Given the description of an element on the screen output the (x, y) to click on. 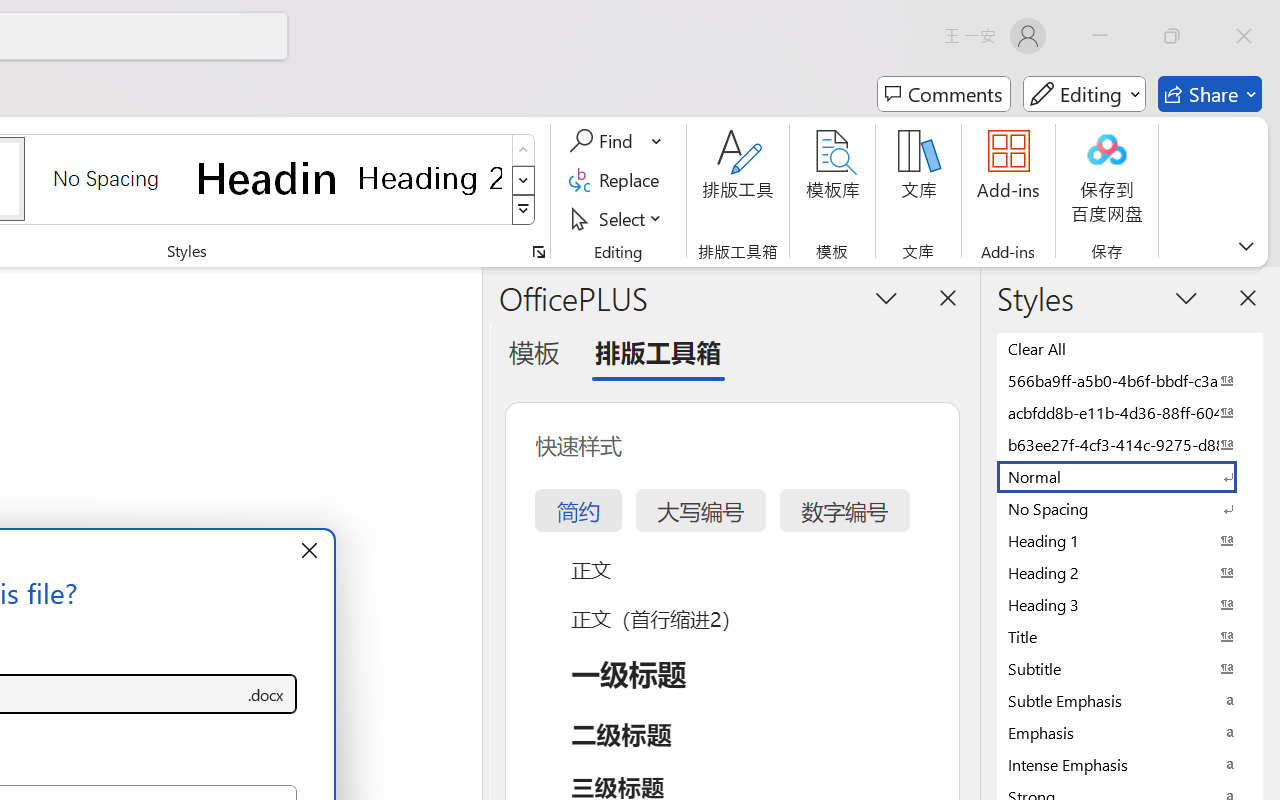
Title (1130, 636)
Normal (1130, 476)
Replace... (617, 179)
acbfdd8b-e11b-4d36-88ff-6049b138f862 (1130, 412)
Clear All (1130, 348)
Styles (523, 209)
Class: NetUIImage (523, 210)
